Given the description of an element on the screen output the (x, y) to click on. 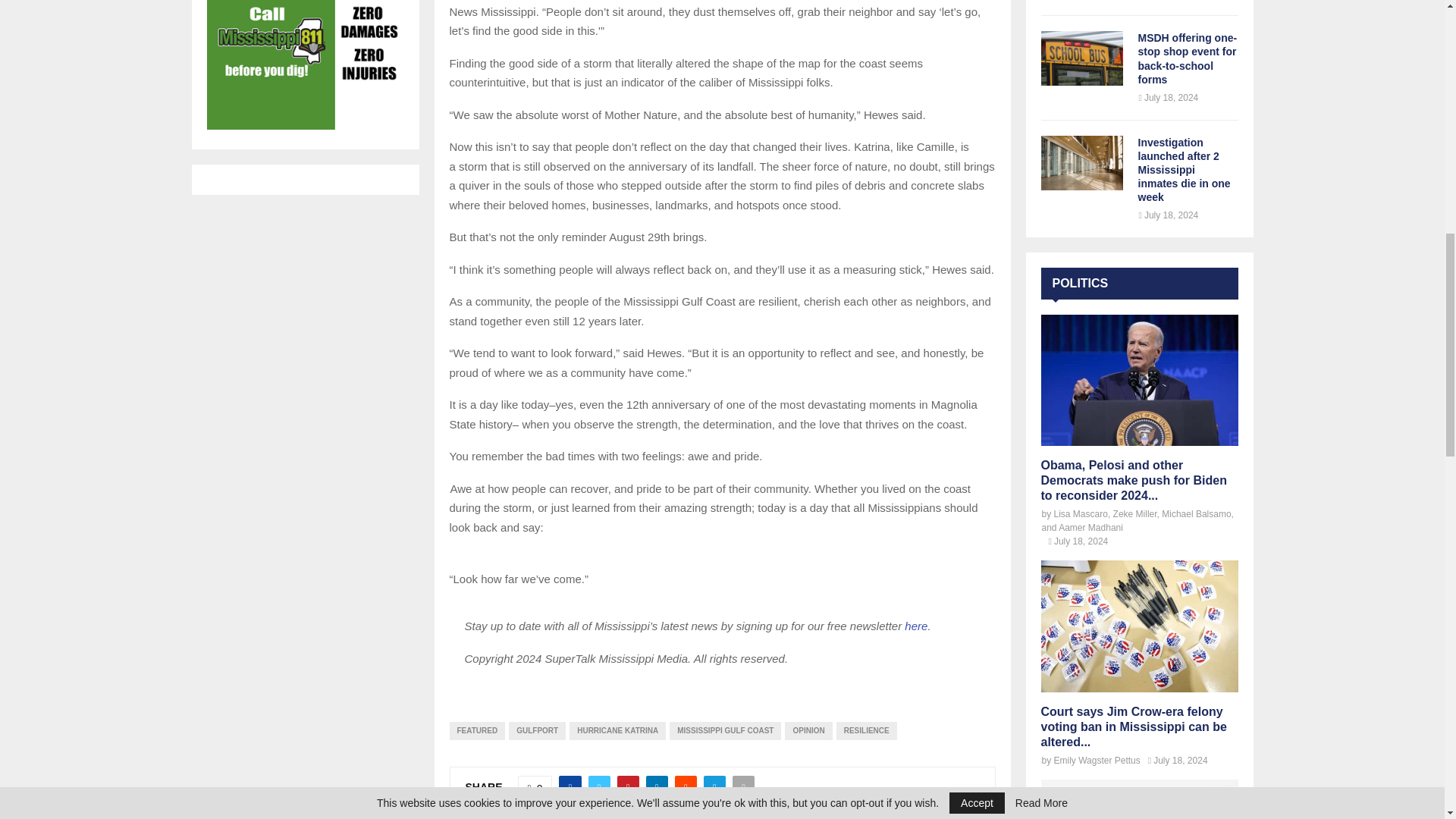
Like (535, 787)
